Given the description of an element on the screen output the (x, y) to click on. 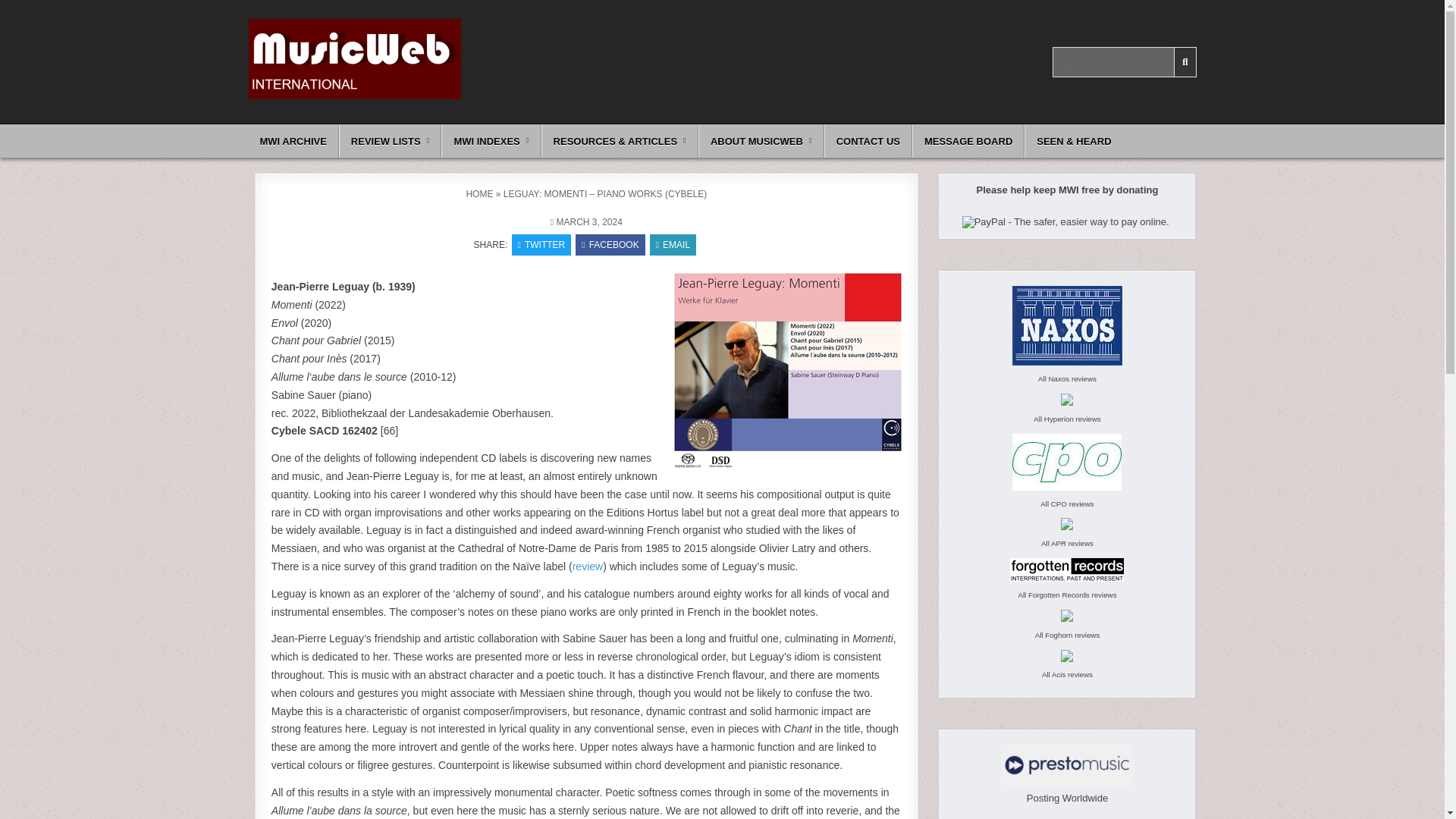
MWI ARCHIVE (293, 141)
REVIEW LISTS (390, 141)
PayPal - The safer, easier way to pay online. (1065, 222)
Tweet This! (542, 244)
MESSAGE BOARD (968, 141)
MWI INDEXES (490, 141)
HOME (479, 194)
CONTACT US (868, 141)
Share this on Facebook (610, 244)
Email This (672, 244)
